Given the description of an element on the screen output the (x, y) to click on. 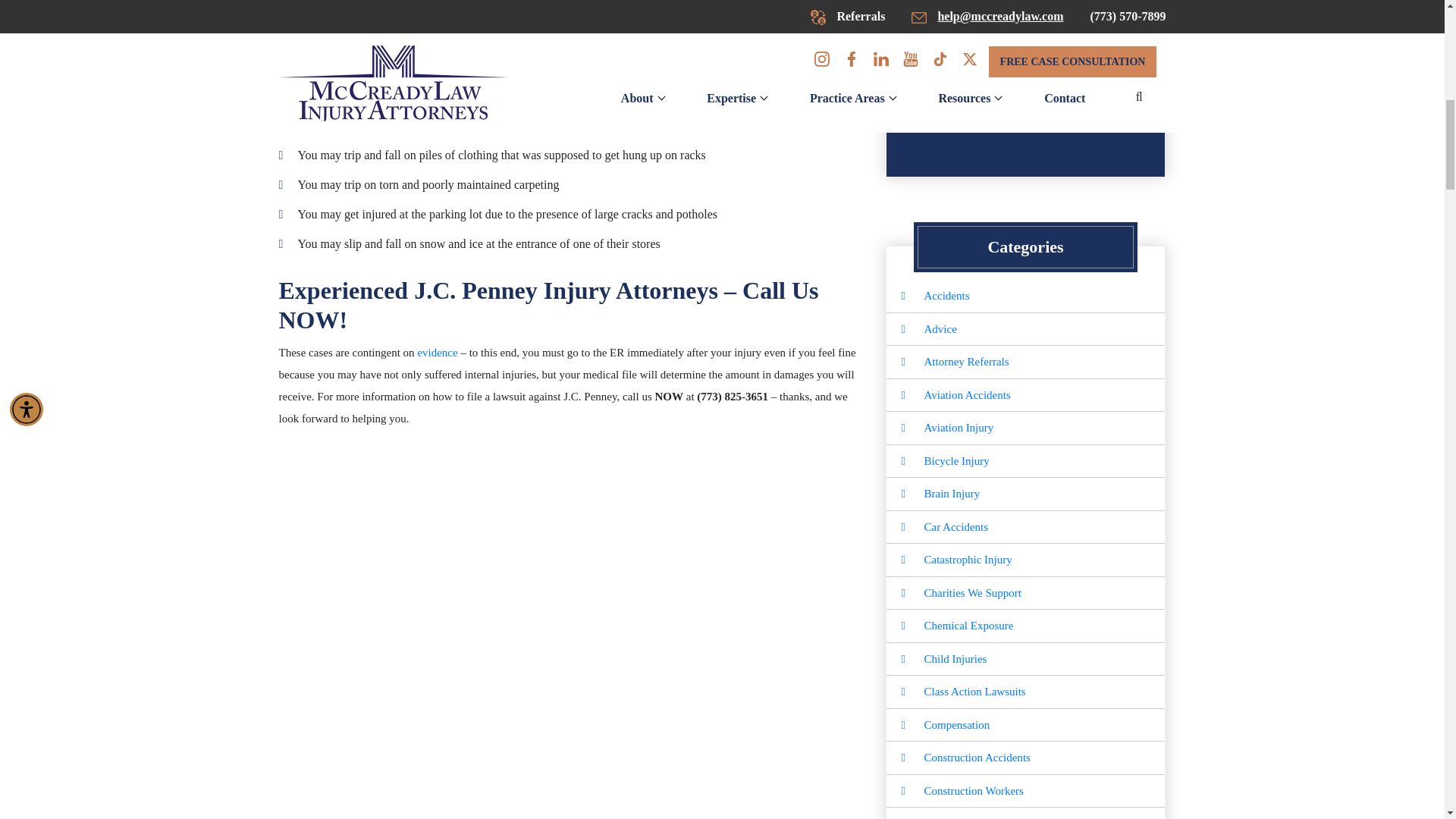
SUBMIT (1024, 113)
